Given the description of an element on the screen output the (x, y) to click on. 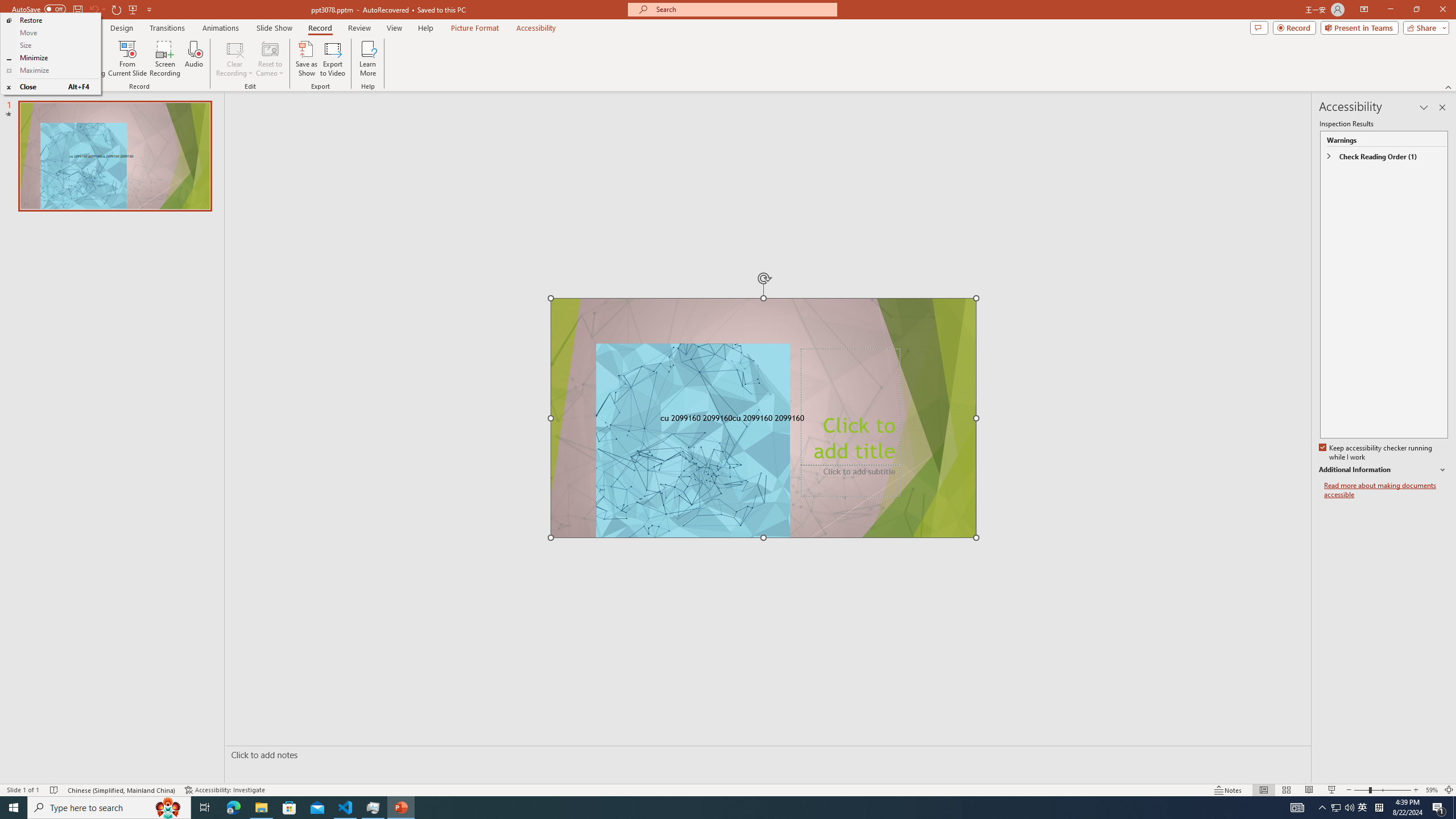
Picture Format (475, 28)
Zoom 59% (1431, 790)
